Given the description of an element on the screen output the (x, y) to click on. 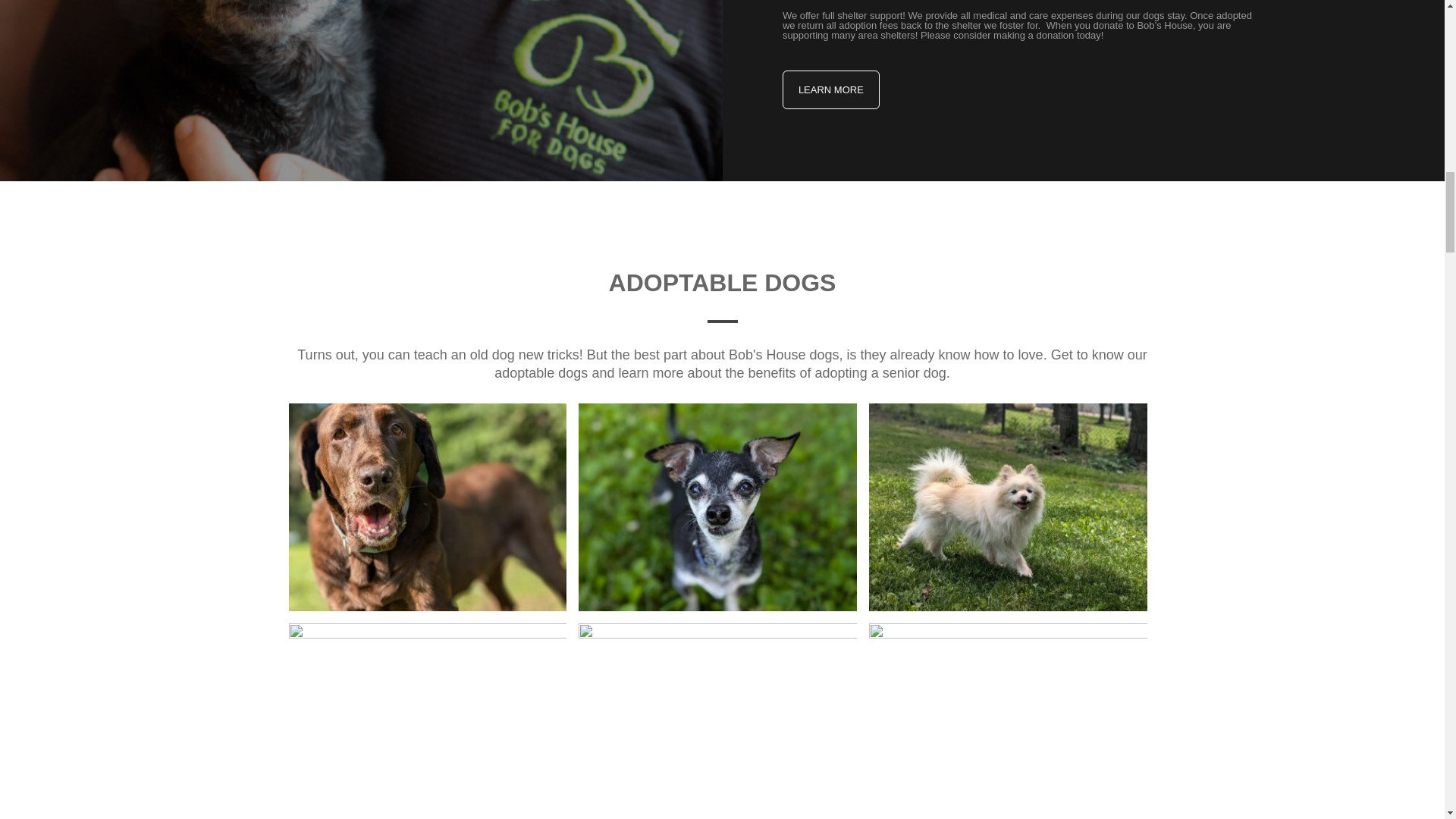
LEARN MORE (831, 89)
